Given the description of an element on the screen output the (x, y) to click on. 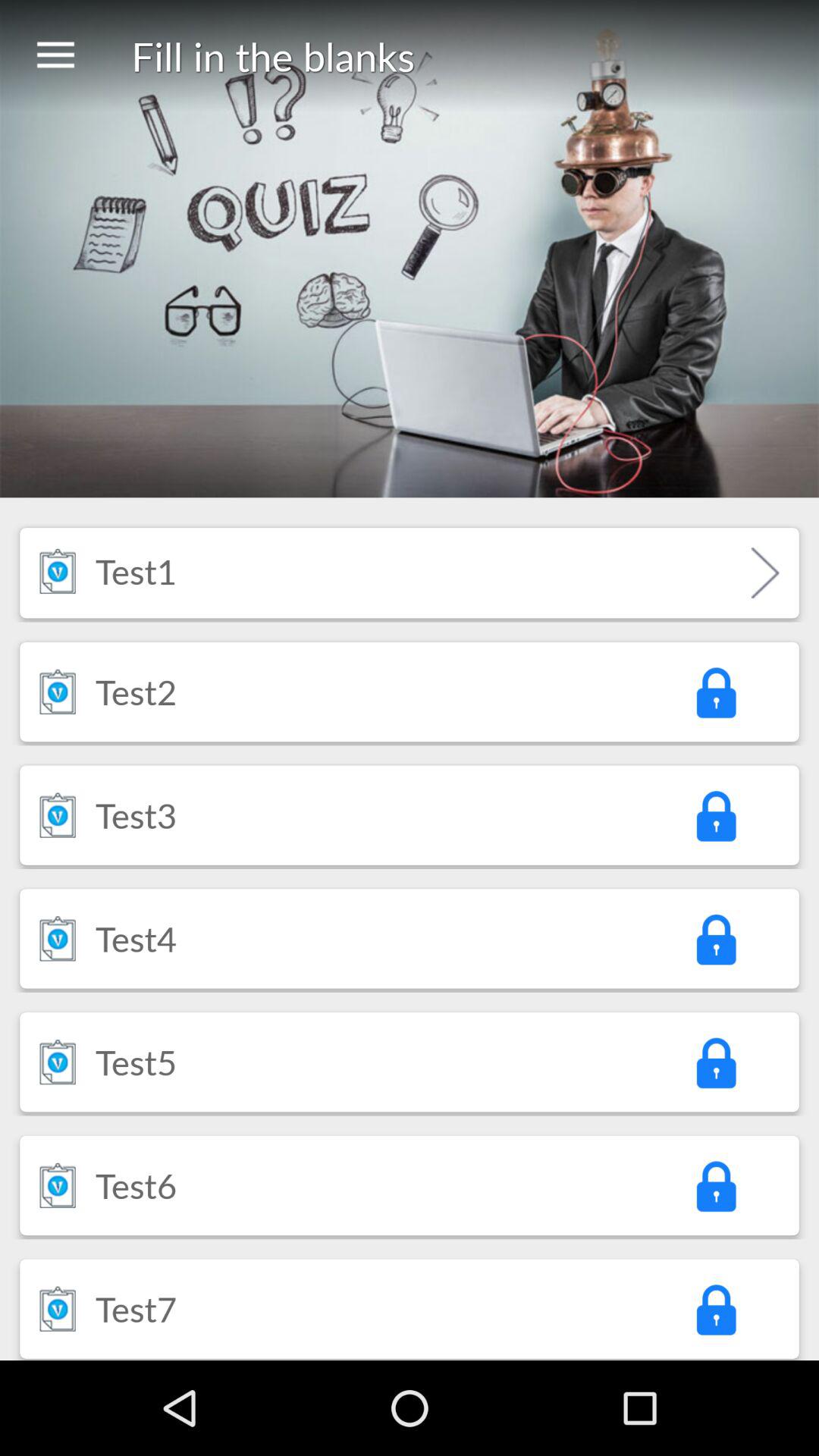
choose item below test3 icon (135, 938)
